Given the description of an element on the screen output the (x, y) to click on. 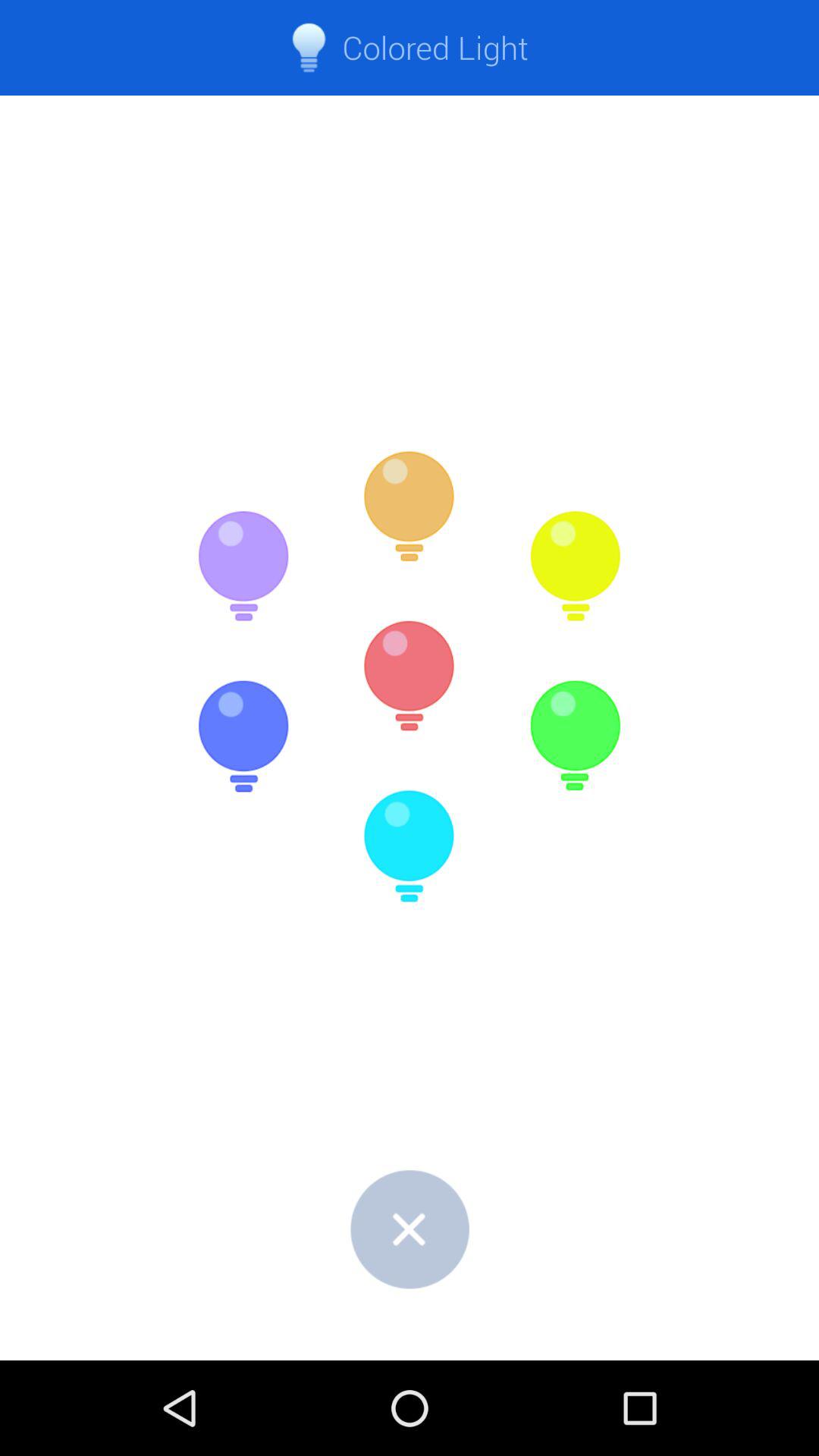
colour light (409, 506)
